Given the description of an element on the screen output the (x, y) to click on. 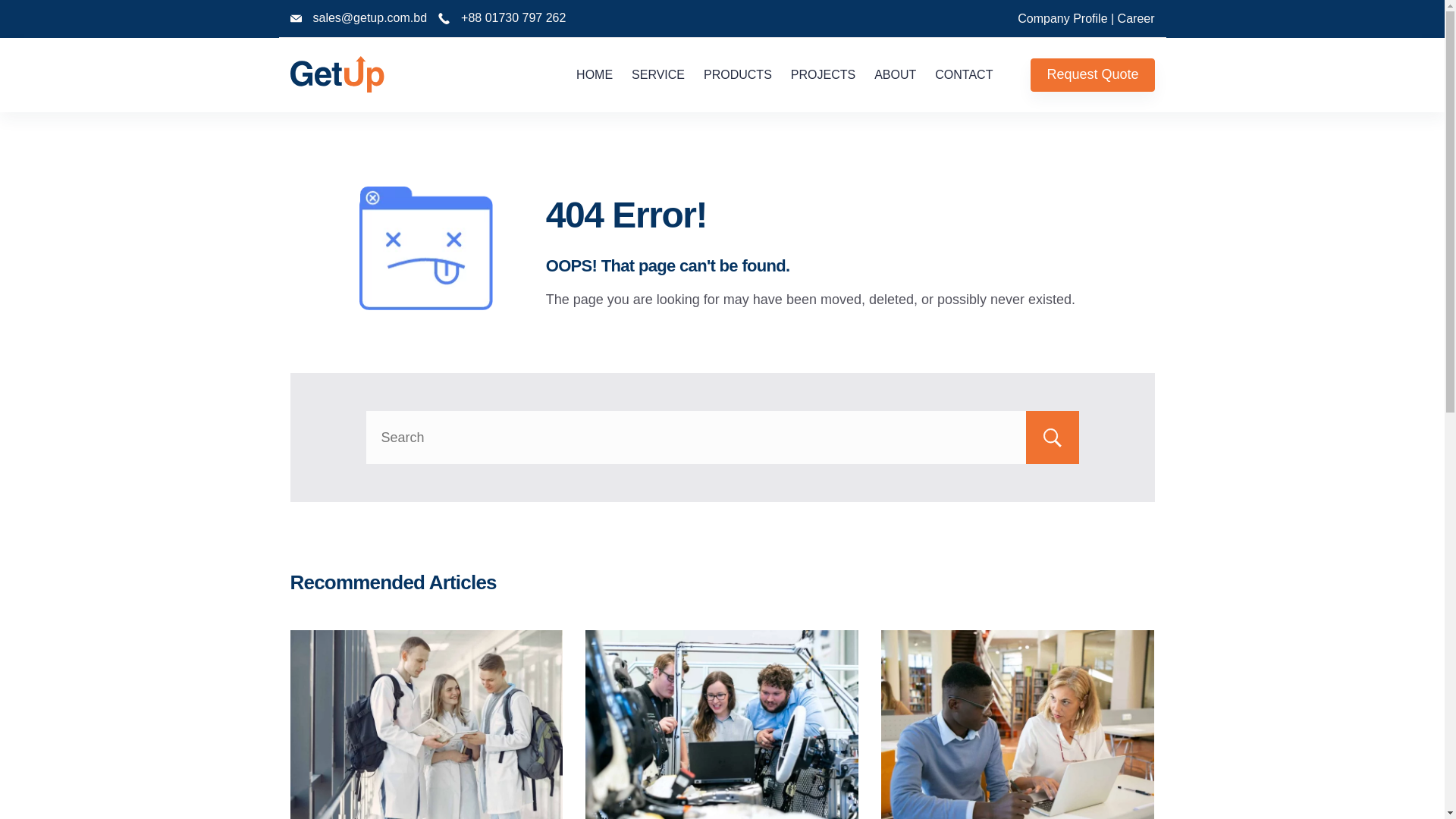
Search Input Element type: hover (721, 437)
CONTACT Element type: text (959, 74)
Company Profile Element type: text (1062, 18)
SERVICE Element type: text (658, 74)
Request Quote Element type: text (1092, 74)
PROJECTS Element type: text (822, 74)
ABOUT Element type: text (895, 74)
PRODUCTS Element type: text (737, 74)
+88 01730 797 262 Element type: text (513, 17)
Career Element type: text (1135, 18)
sales@getup.com.bd Element type: text (369, 17)
HOME Element type: text (599, 74)
Search Element type: text (1051, 437)
